Given the description of an element on the screen output the (x, y) to click on. 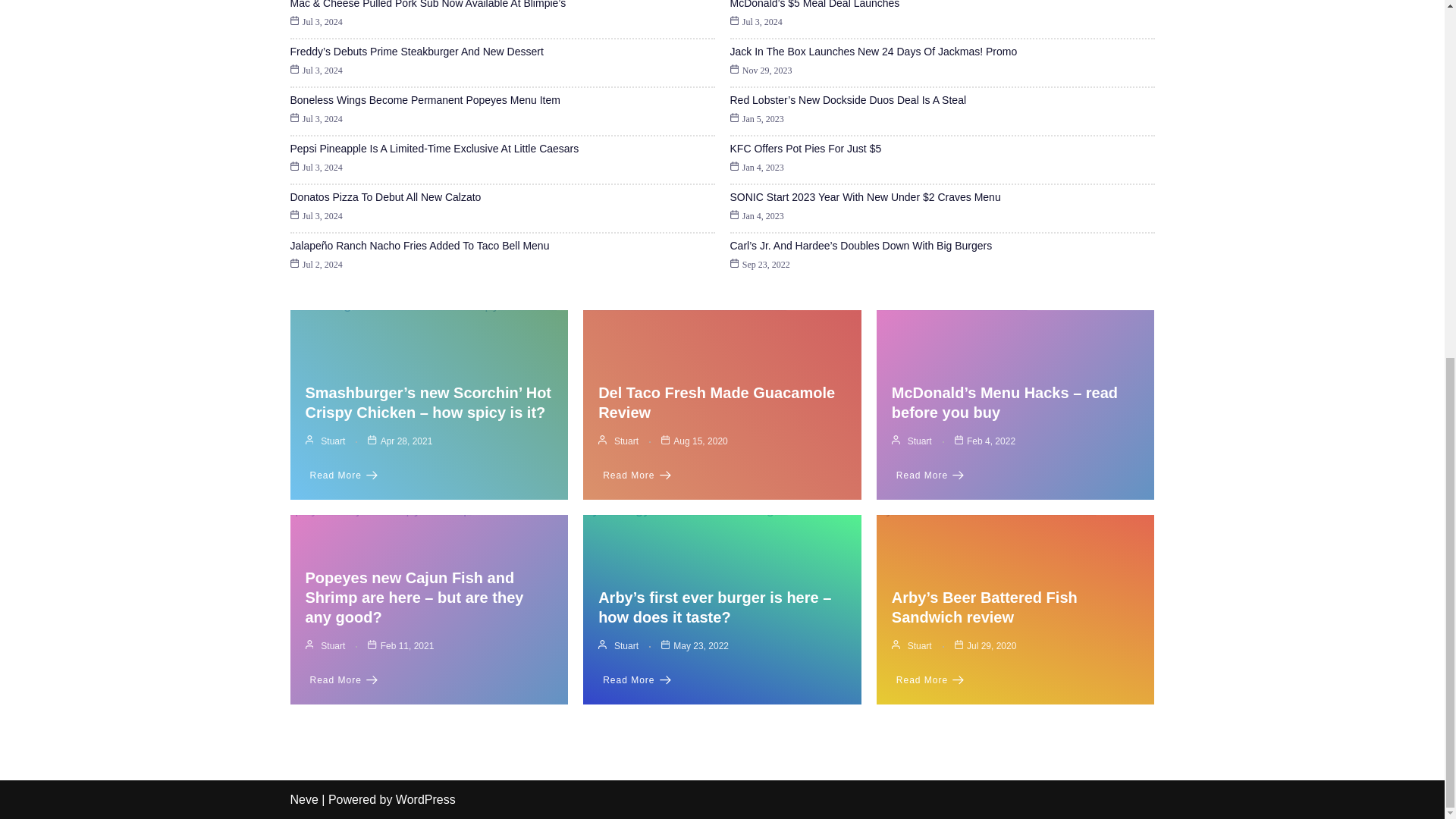
Donatos Pizza To Debut All New Calzato (384, 196)
Jack In The Box Launches New 24 Days Of Jackmas! Promo (872, 51)
Boneless Wings Become Permanent Popeyes Menu Item (424, 100)
